Given the description of an element on the screen output the (x, y) to click on. 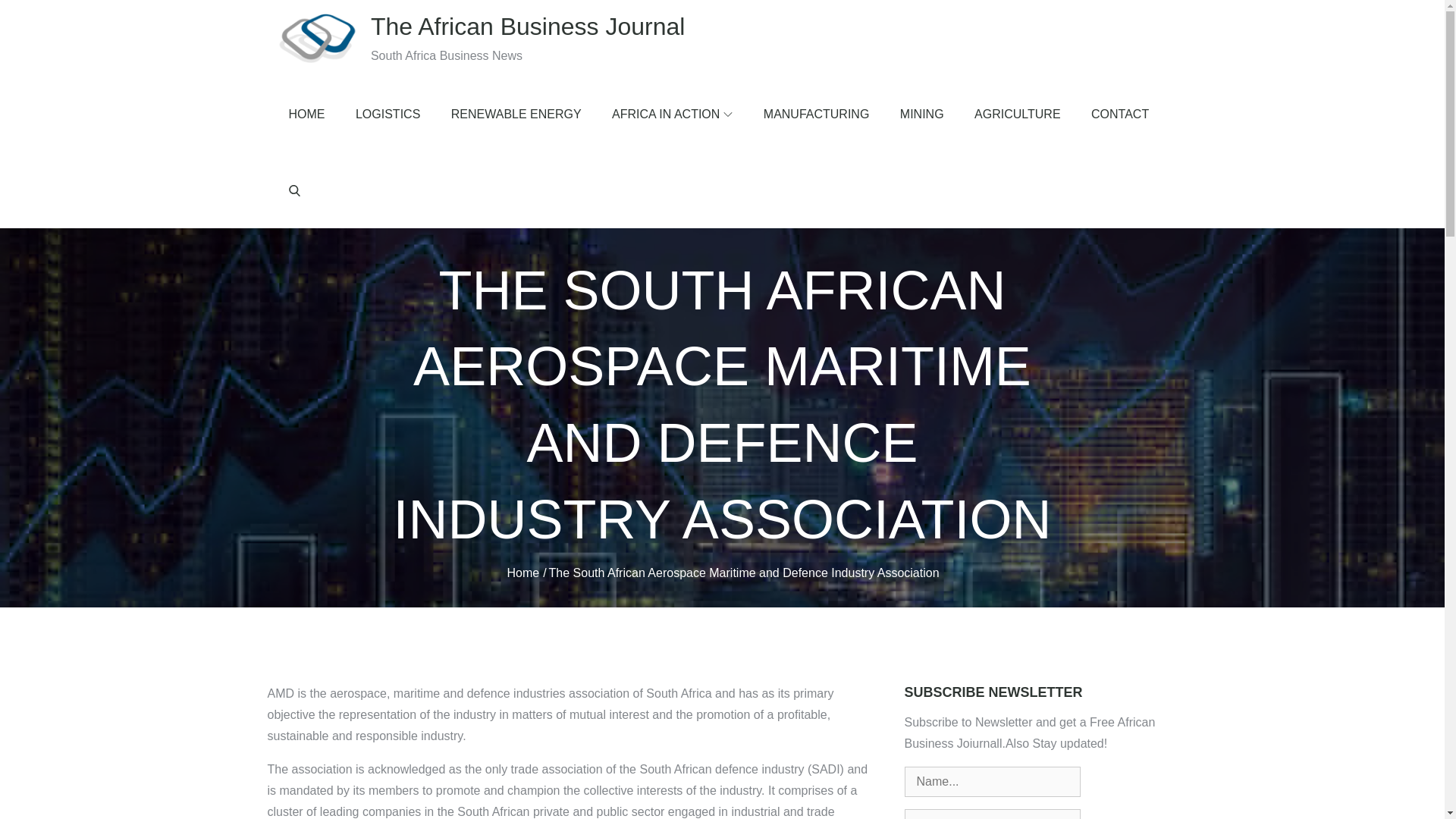
AGRICULTURE (1017, 114)
RENEWABLE ENERGY (516, 114)
MANUFACTURING (816, 114)
LOGISTICS (387, 114)
AFRICA IN ACTION (671, 114)
The African Business Journal (527, 26)
Home (522, 571)
CONTACT (1119, 114)
MINING (922, 114)
